Given the description of an element on the screen output the (x, y) to click on. 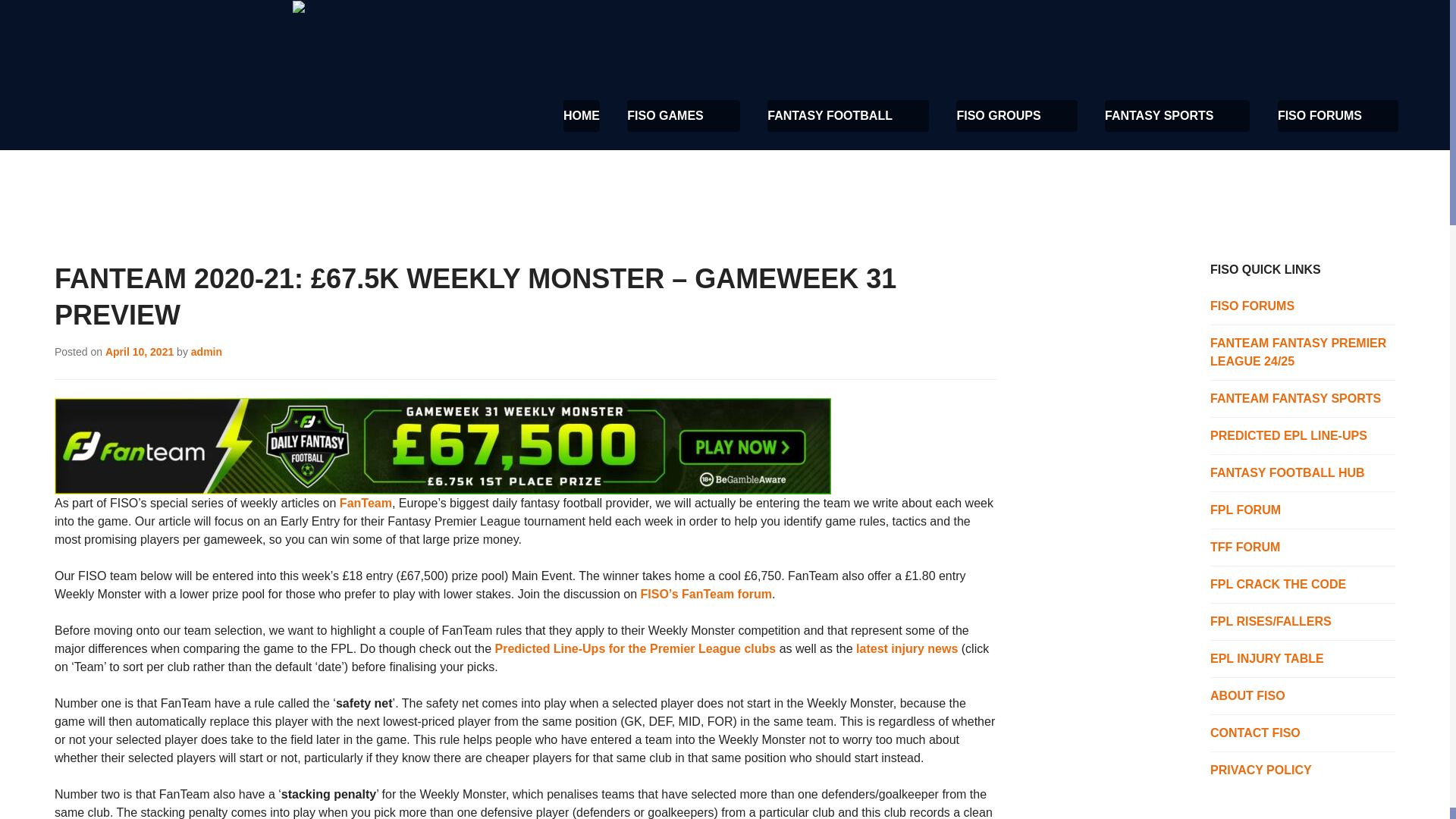
FISO GROUPS (1016, 115)
FANTASY FOOTBALL (847, 115)
FanTeam (298, 8)
FISO GAMES (683, 115)
HOME (581, 115)
